Given the description of an element on the screen output the (x, y) to click on. 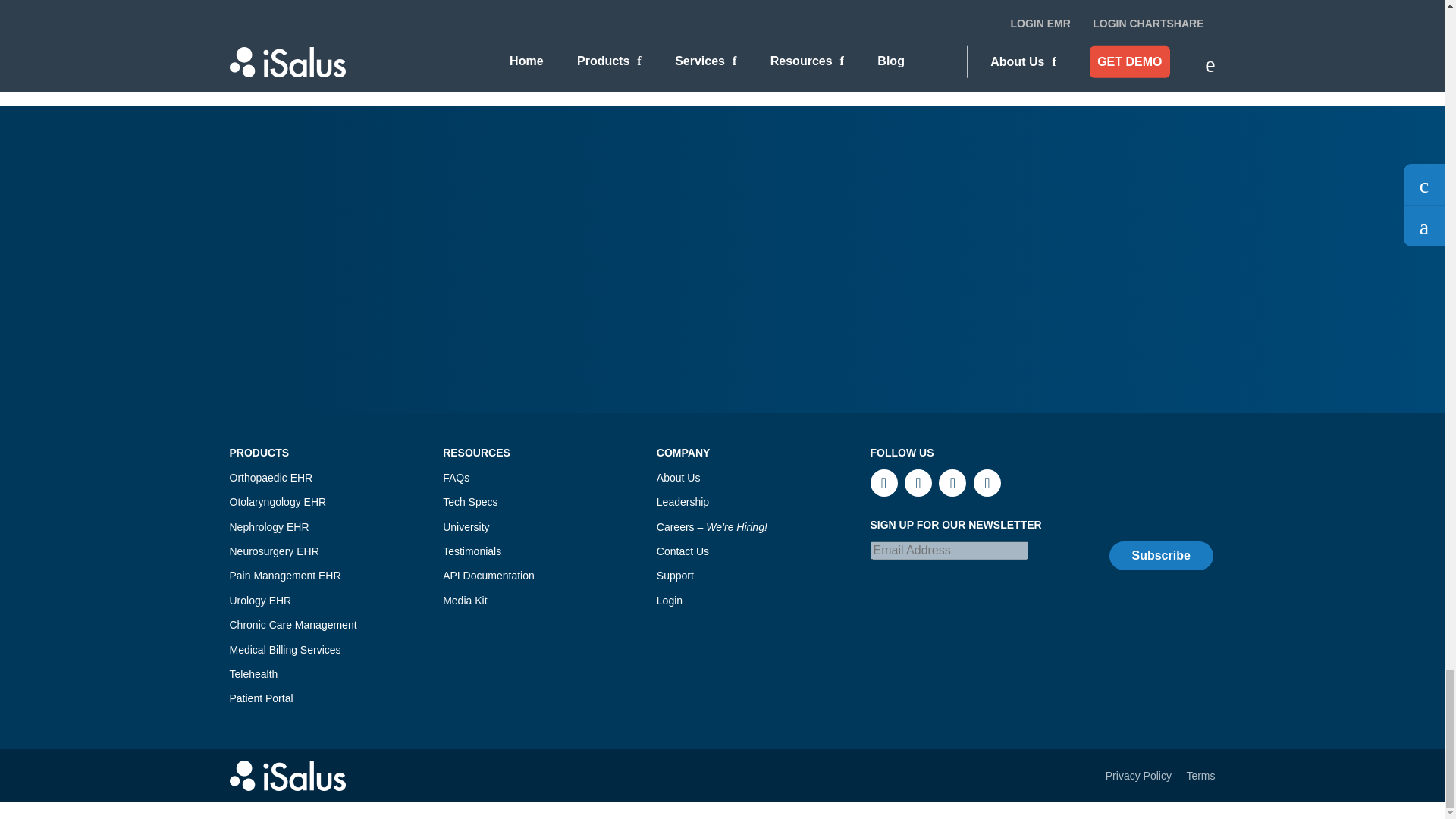
Subscribe (1160, 555)
